Given the description of an element on the screen output the (x, y) to click on. 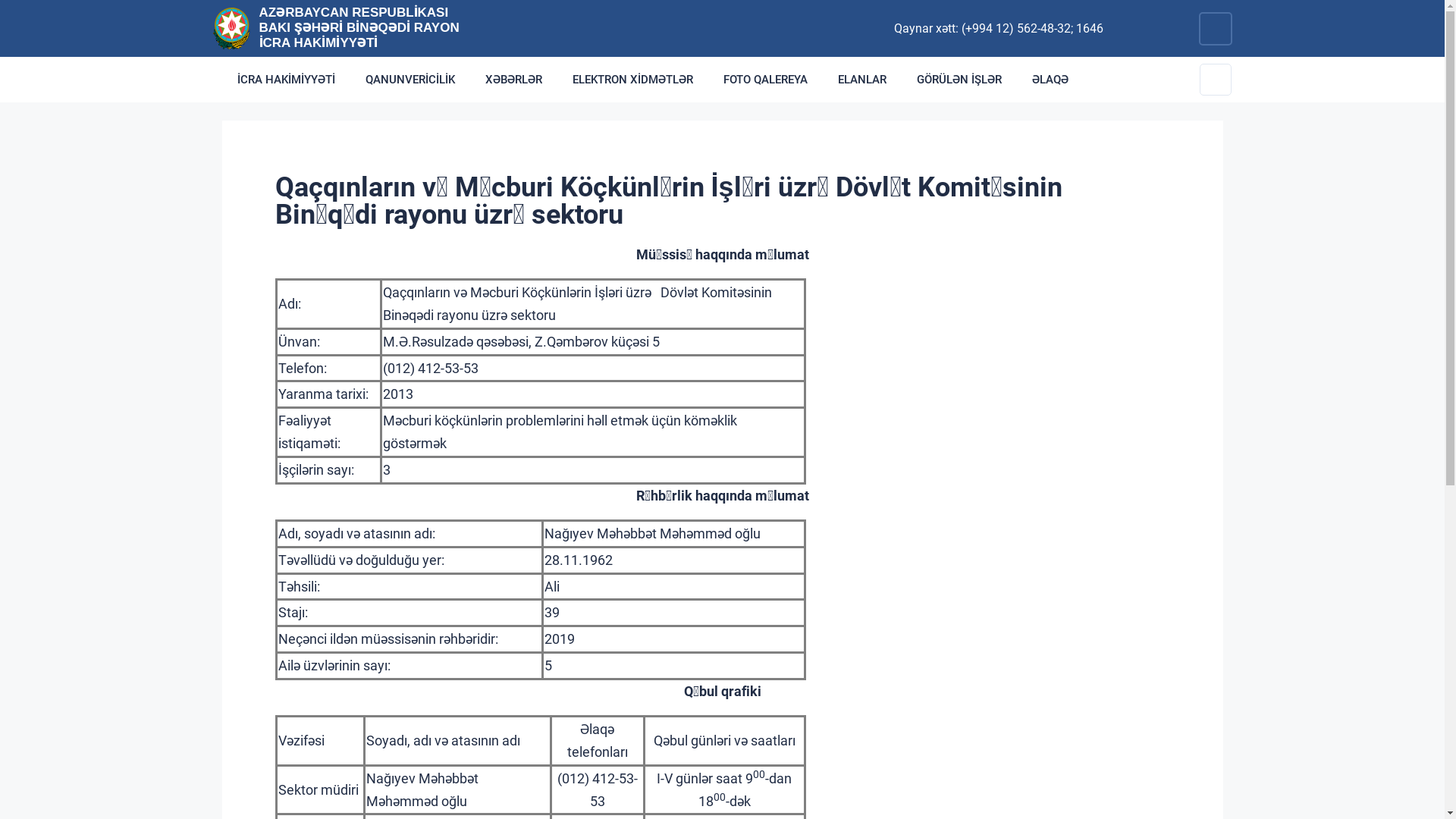
FOTO QALEREYA Element type: text (765, 79)
ELANLAR Element type: text (861, 79)
QANUNVERICILIK Element type: text (410, 79)
